Given the description of an element on the screen output the (x, y) to click on. 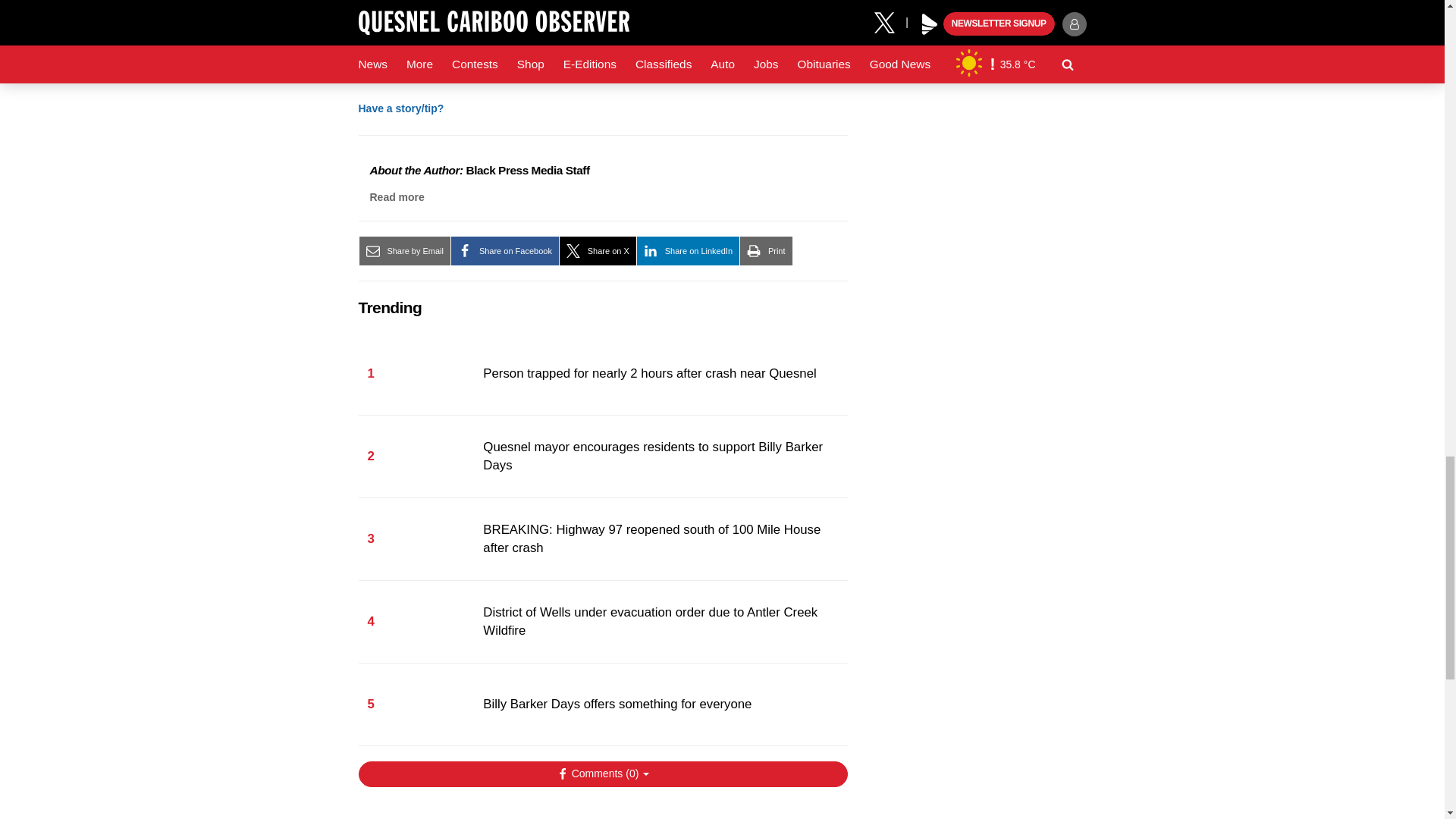
Show Comments (602, 774)
